Given the description of an element on the screen output the (x, y) to click on. 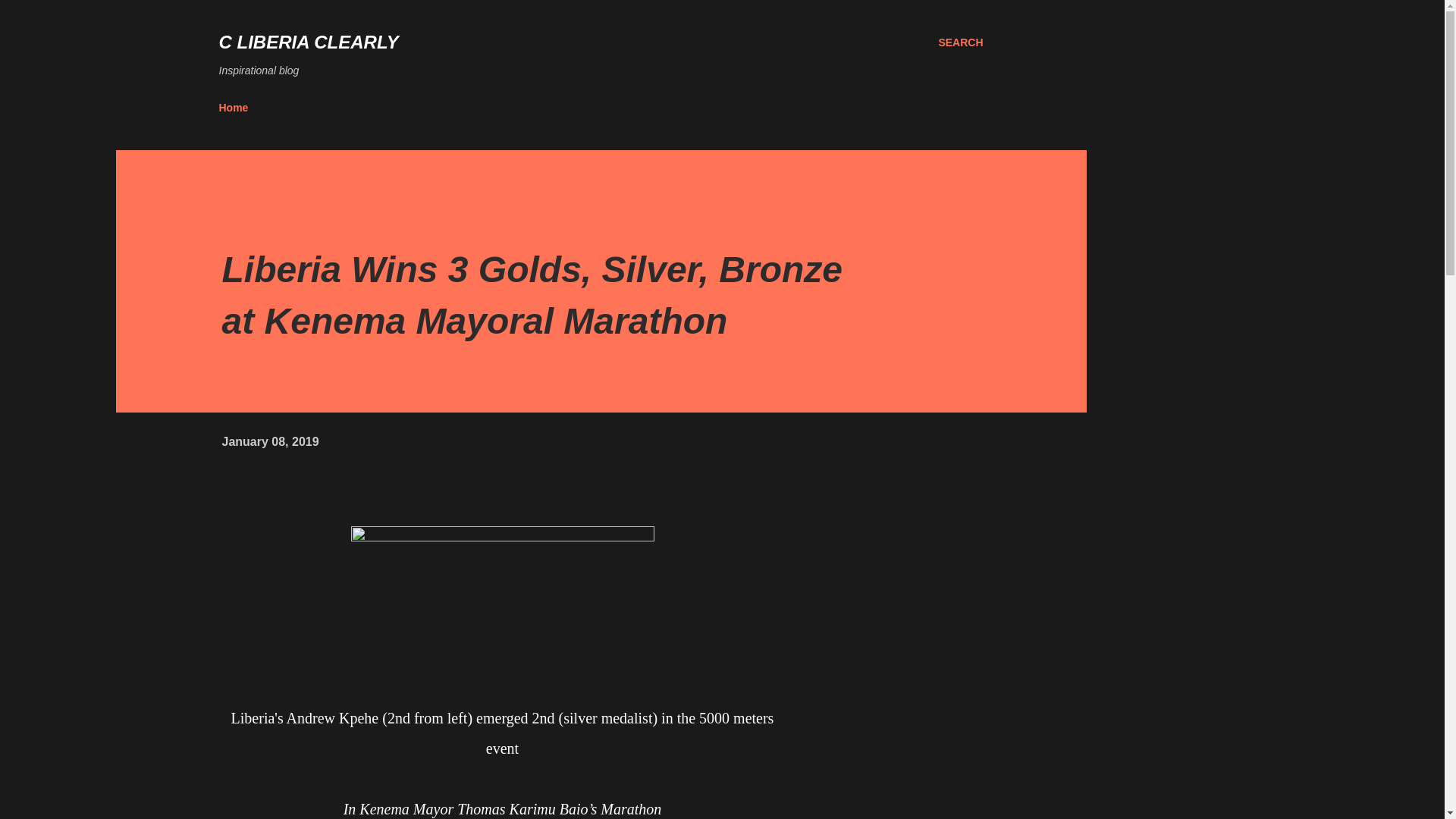
permanent link (269, 440)
C LIBERIA CLEARLY (307, 41)
Home (237, 107)
SEARCH (959, 42)
January 08, 2019 (269, 440)
